Given the description of an element on the screen output the (x, y) to click on. 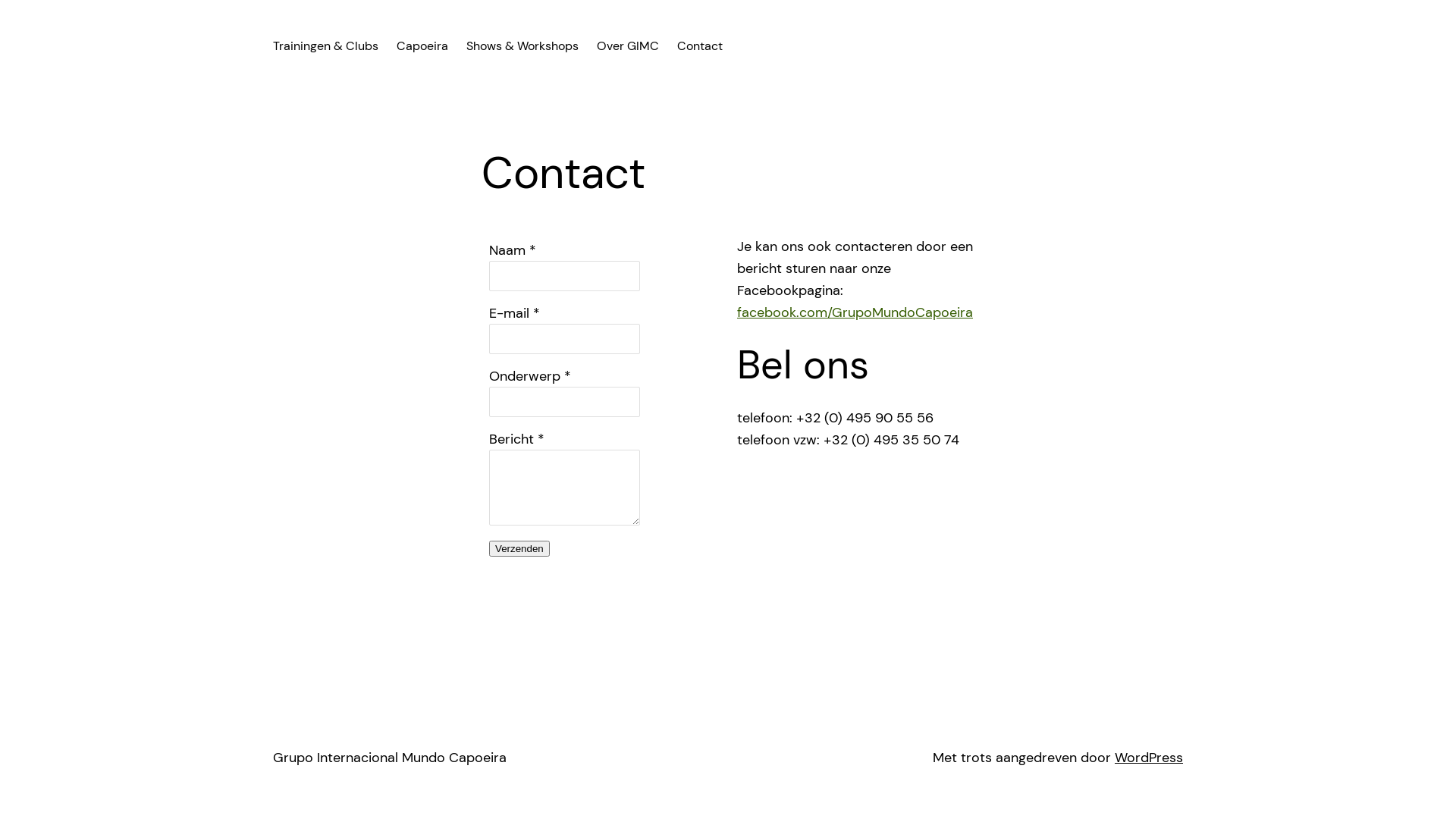
Grupo Internacional Mundo Capoeira Element type: text (389, 757)
Over GIMC Element type: text (627, 46)
Trainingen & Clubs Element type: text (325, 46)
WordPress Element type: text (1148, 757)
facebook.com/GrupoMundoCapoeira Element type: text (854, 312)
Capoeira Element type: text (422, 46)
Shows & Workshops Element type: text (522, 46)
Verzenden Element type: text (519, 548)
Contact Element type: text (699, 46)
